Given the description of an element on the screen output the (x, y) to click on. 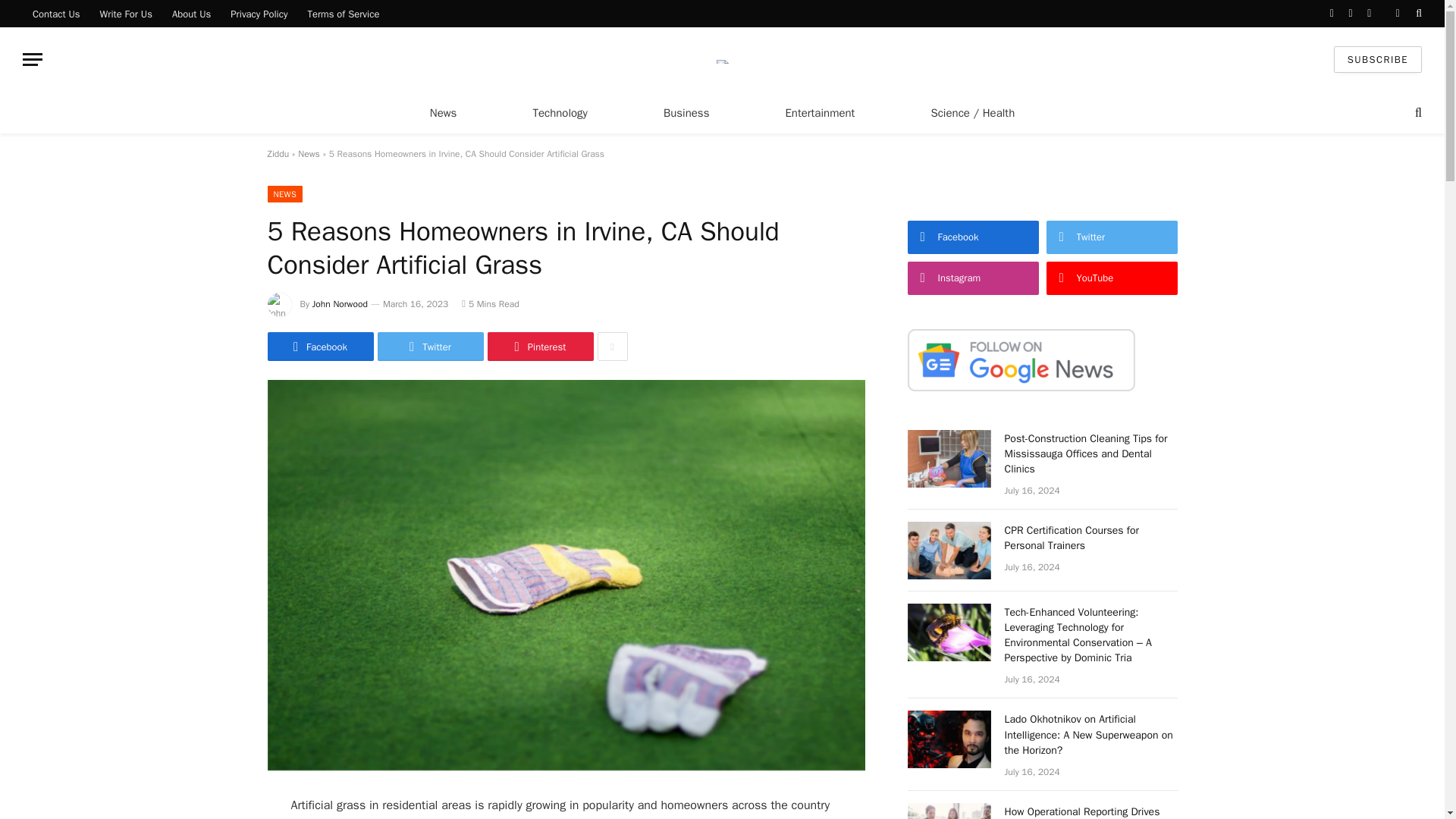
John Norwood (340, 304)
NEWS (284, 193)
Ziddu (277, 153)
Switch to Dark Design - easier on eyes. (1397, 13)
Entertainment (819, 112)
Write For Us (125, 13)
Privacy Policy (259, 13)
News (309, 153)
SUBSCRIBE (1377, 58)
Posts by John Norwood (340, 304)
Terms of Service (342, 13)
Twitter (430, 346)
Share on Facebook (319, 346)
Facebook (319, 346)
